Given the description of an element on the screen output the (x, y) to click on. 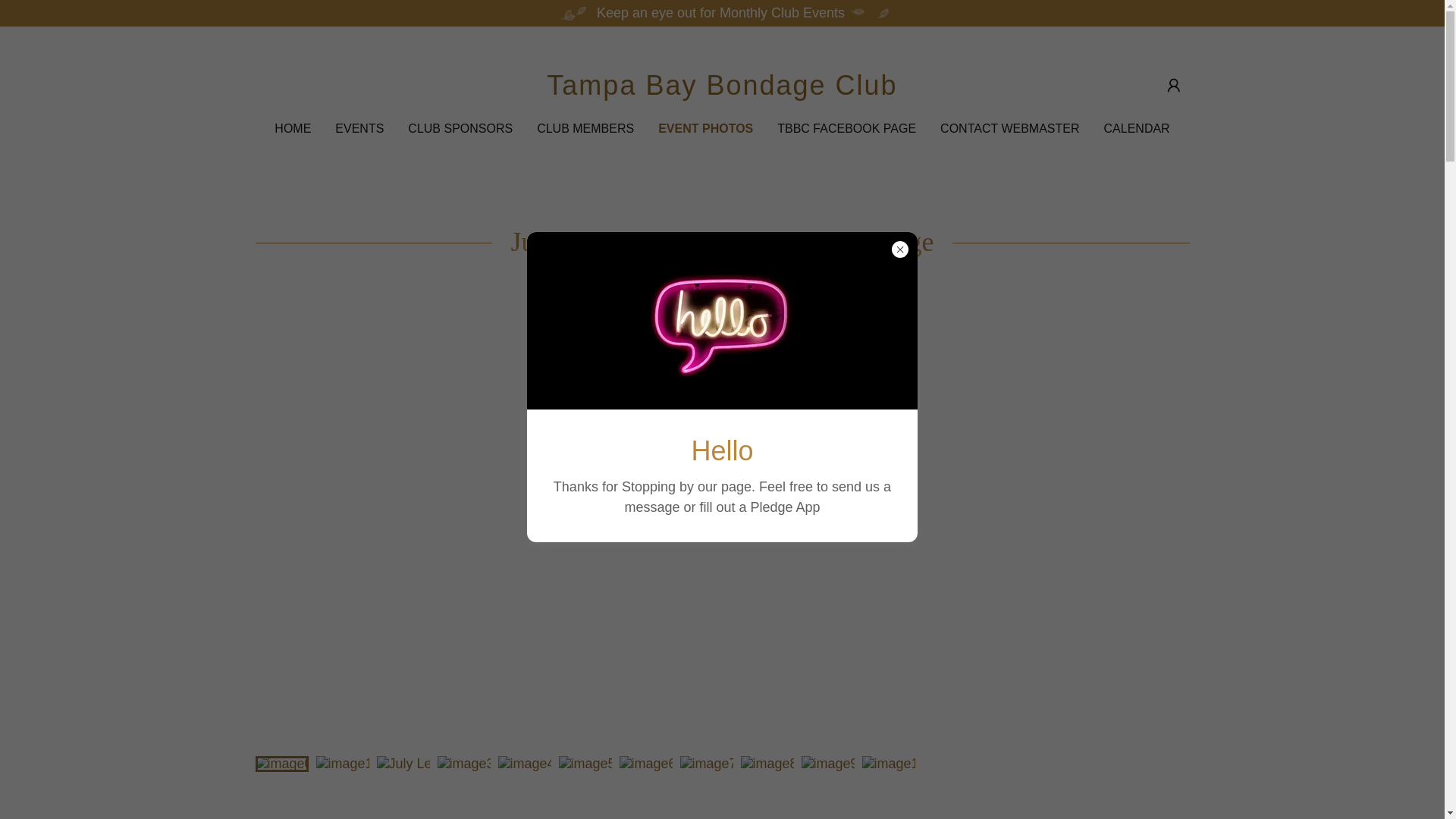
CLUB MEMBERS (585, 128)
TBBC FACEBOOK PAGE (846, 128)
HOME (292, 128)
CALENDAR (1136, 128)
EVENTS (359, 128)
CONTACT WEBMASTER (1009, 128)
Tampa Bay Bondage Club (721, 89)
CLUB SPONSORS (459, 128)
EVENT PHOTOS (705, 128)
Tampa Bay Bondage Club (721, 89)
